Given the description of an element on the screen output the (x, y) to click on. 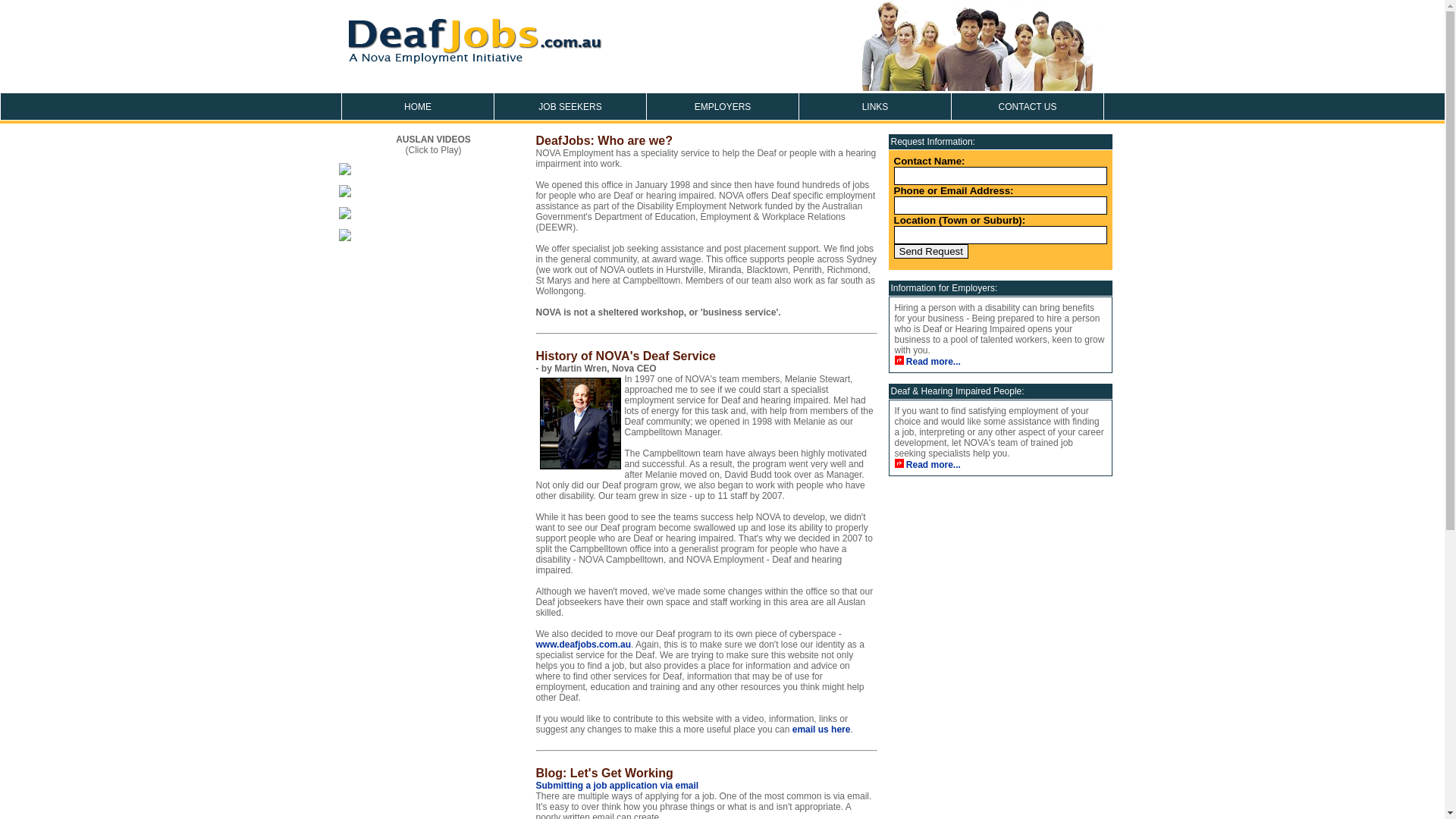
CONTACT US Element type: text (1026, 106)
www.deafjobs.com.au Element type: text (582, 644)
HOME Element type: text (417, 106)
Submitting a job application via email Element type: text (616, 785)
Read more... Element type: text (933, 464)
LINKS Element type: text (874, 106)
Send Request Element type: text (930, 251)
Read more... Element type: text (933, 361)
EMPLOYERS Element type: text (722, 106)
email us here Element type: text (821, 729)
JOB SEEKERS Element type: text (569, 106)
